Given the description of an element on the screen output the (x, y) to click on. 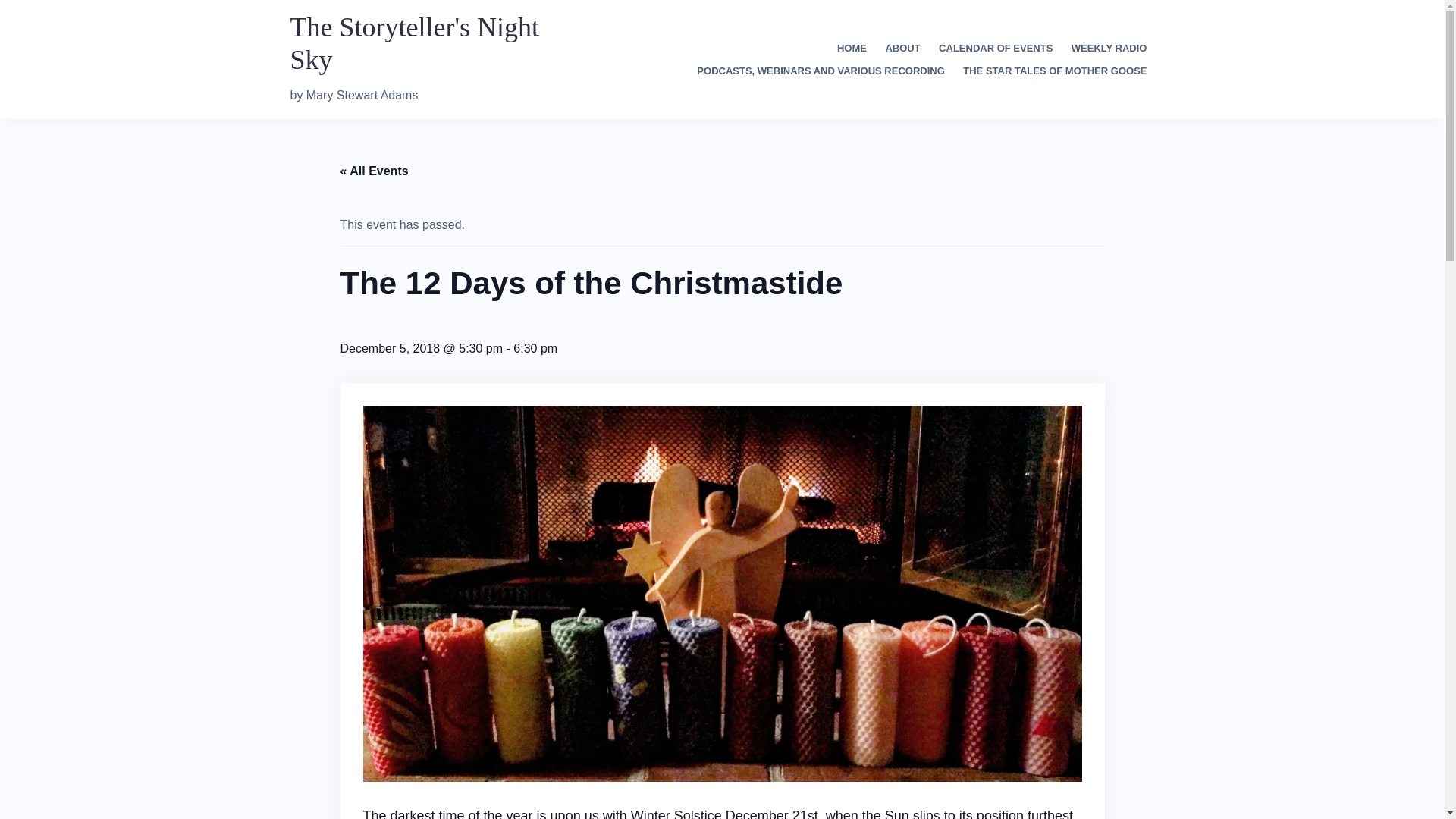
CALENDAR OF EVENTS (995, 48)
PODCASTS, WEBINARS AND VARIOUS RECORDING (820, 71)
ABOUT (902, 48)
HOME (851, 48)
WEEKLY RADIO (1109, 48)
THE STAR TALES OF MOTHER GOOSE (1054, 71)
The Storyteller's Night Sky (413, 43)
